Given the description of an element on the screen output the (x, y) to click on. 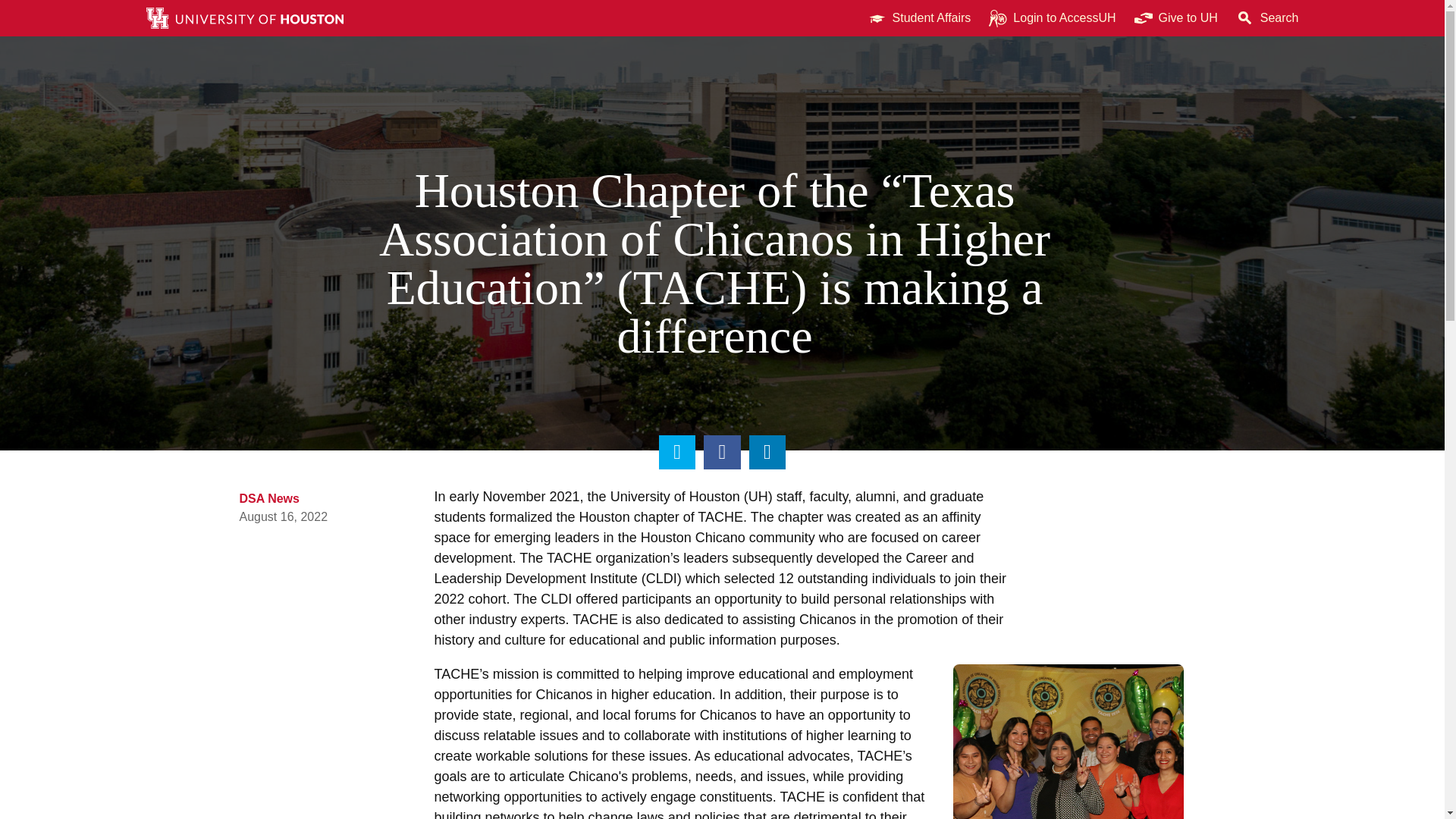
Student Affairs (919, 18)
Give to UH (1176, 18)
University of Houston (1208, 17)
Login to AccessUH (1051, 18)
University of Houston (758, 496)
Search (1267, 18)
DSA News (269, 498)
